Given the description of an element on the screen output the (x, y) to click on. 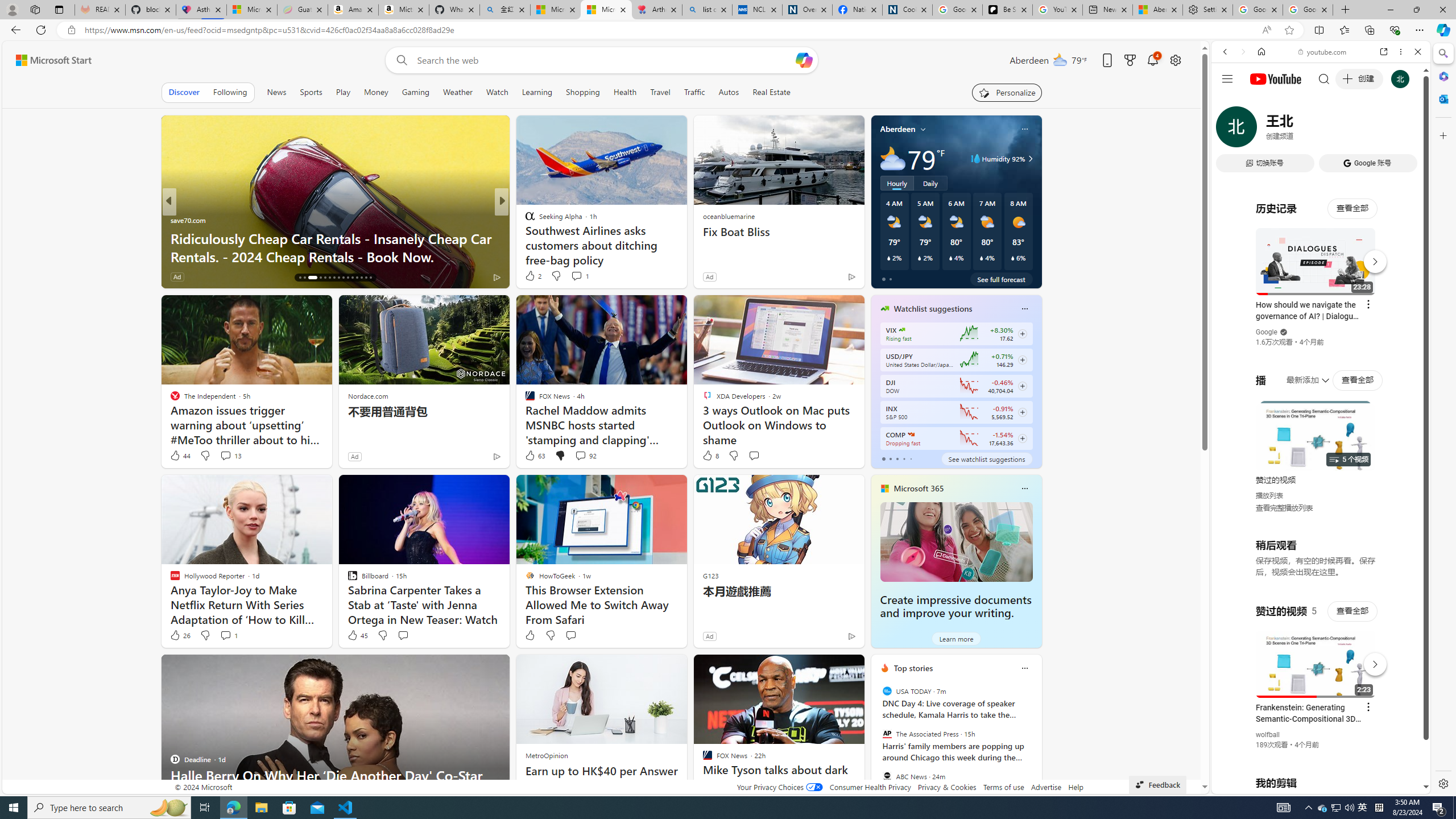
next (1035, 741)
136 Like (182, 276)
Advertise (1045, 786)
Favorites (1344, 29)
tab-3 (903, 458)
AutomationID: tab-29 (366, 277)
Discover (183, 92)
125 Like (532, 276)
SEARCH TOOLS (1350, 130)
